Given the description of an element on the screen output the (x, y) to click on. 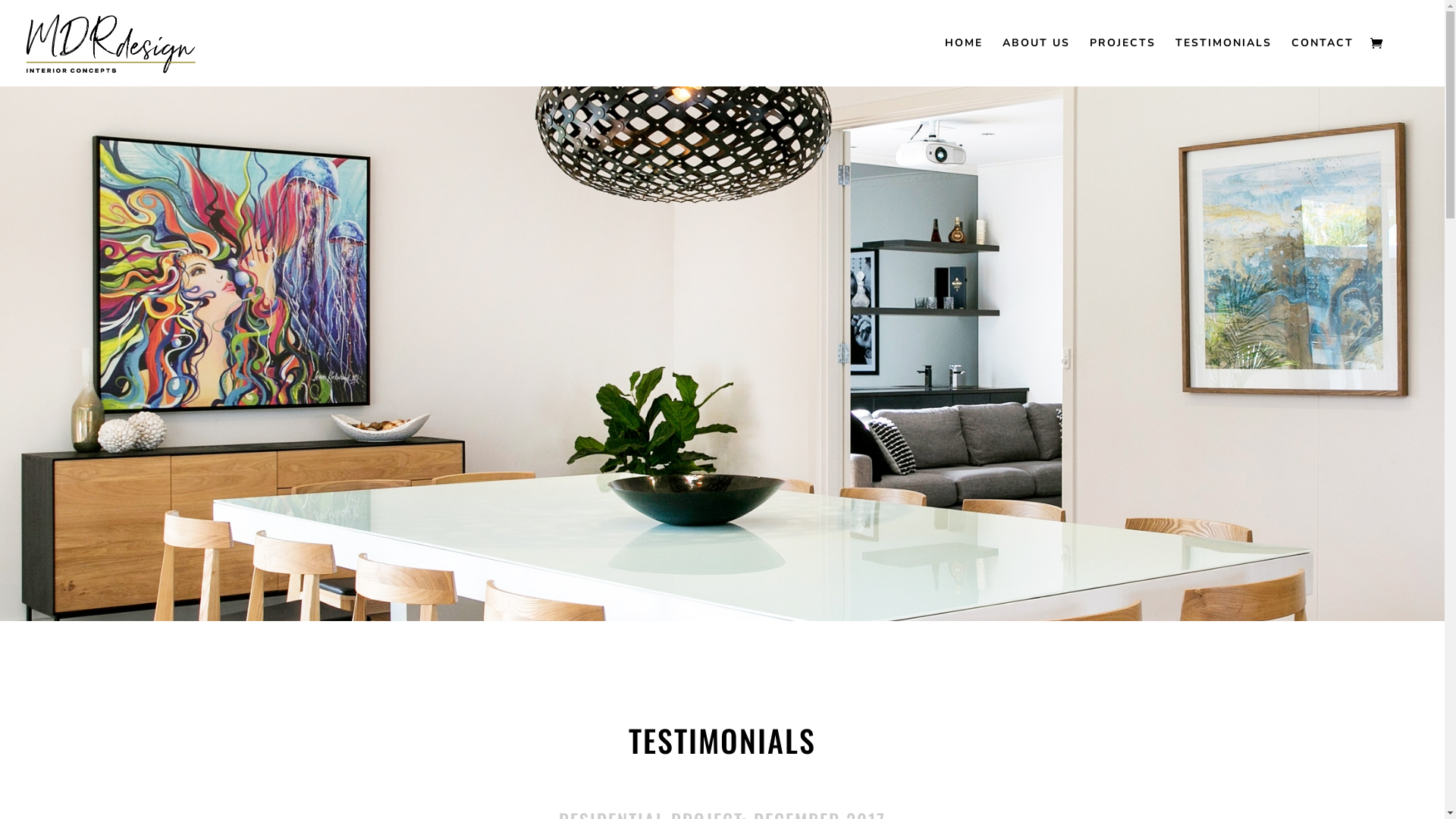
TESTIMONIALS Element type: text (1223, 61)
PROJECTS Element type: text (1122, 61)
ABOUT US Element type: text (1036, 61)
CONTACT Element type: text (1322, 61)
HOME Element type: text (963, 61)
